Given the description of an element on the screen output the (x, y) to click on. 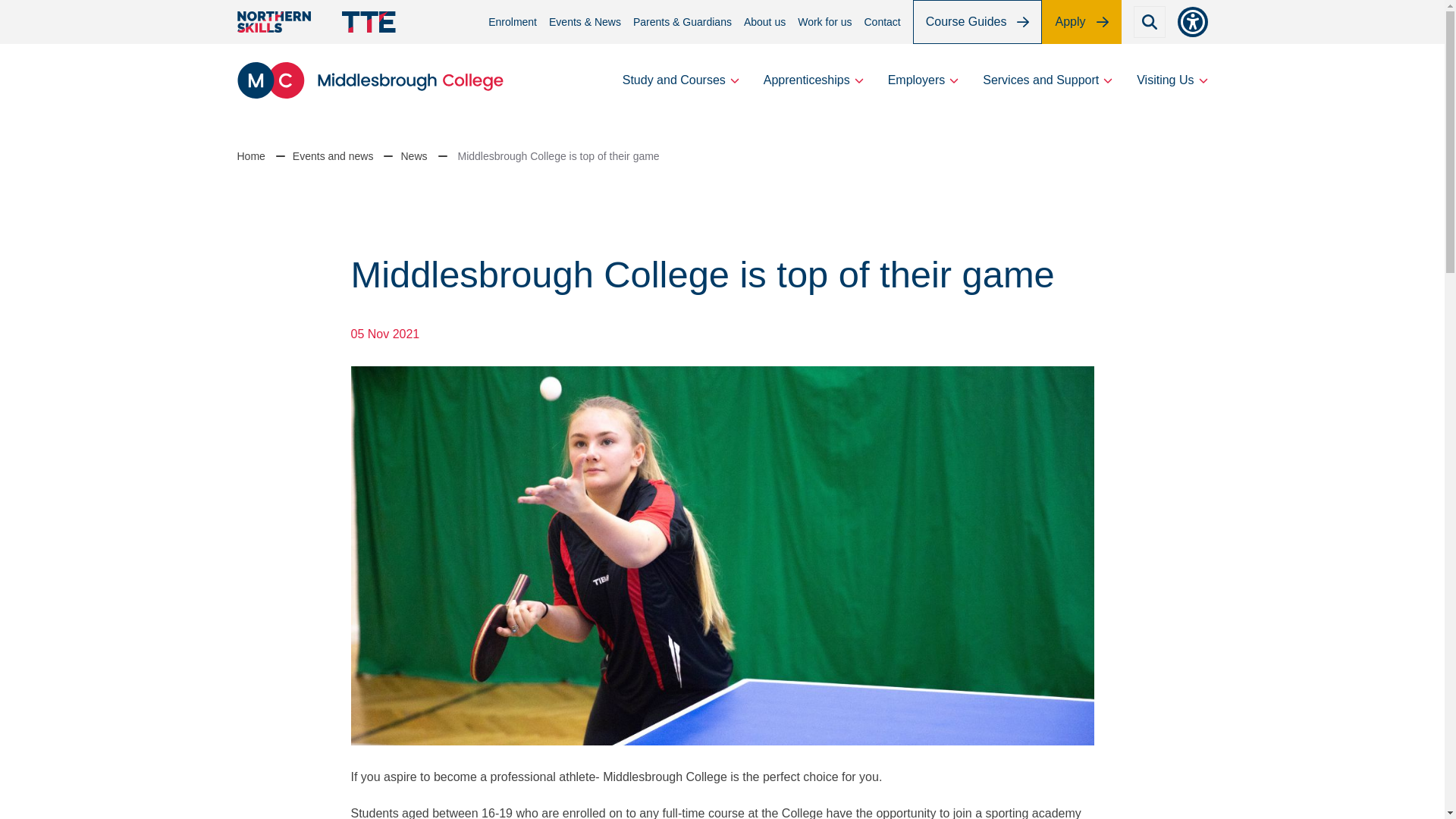
Course Guides (977, 22)
Study and Courses (681, 80)
Apply (1081, 22)
Contact (882, 21)
xClick to access accessibility tools (1191, 21)
xOpen search modal (1148, 21)
Enrolment (512, 21)
Work for us (824, 21)
Northern Skills logo (272, 21)
Apprenticeships (812, 80)
About us (765, 21)
TTE logo (368, 21)
